Given the description of an element on the screen output the (x, y) to click on. 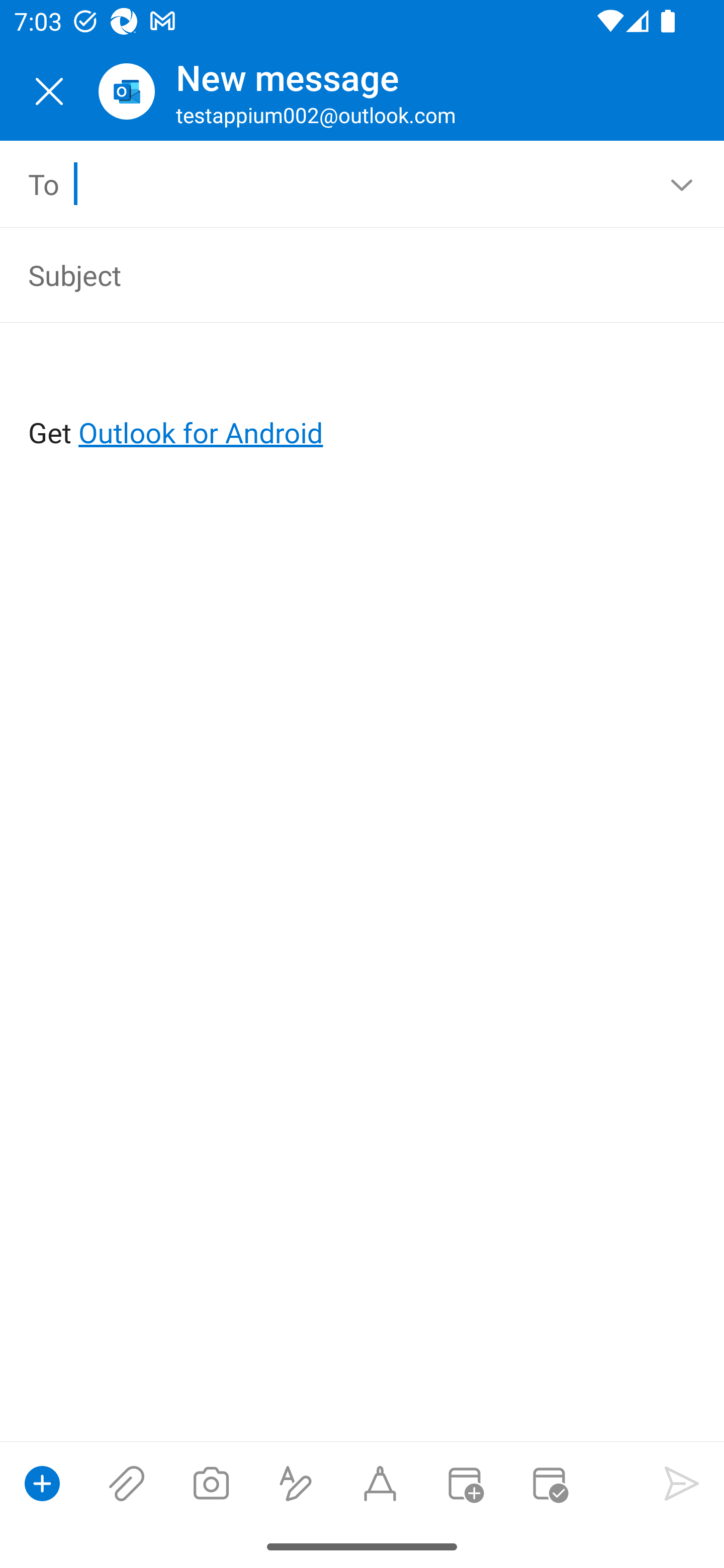
Close (49, 91)
Subject (333, 274)


Get Outlook for Android (363, 400)
Show compose options (42, 1482)
Attach files (126, 1482)
Take a photo (210, 1482)
Show formatting options (295, 1482)
Start Ink compose (380, 1482)
Convert to event (464, 1482)
Send availability (548, 1482)
Send (681, 1482)
